Given the description of an element on the screen output the (x, y) to click on. 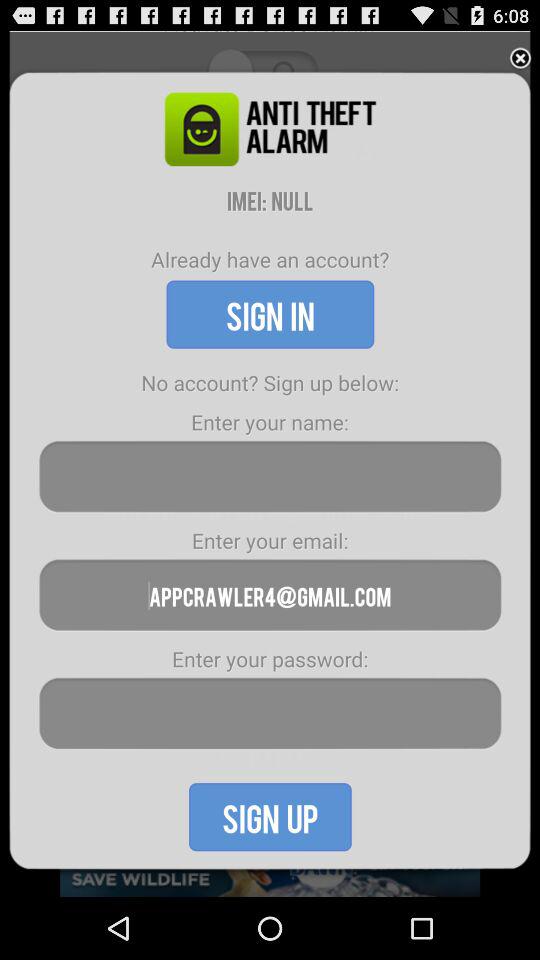
exit out of the window (520, 58)
